Given the description of an element on the screen output the (x, y) to click on. 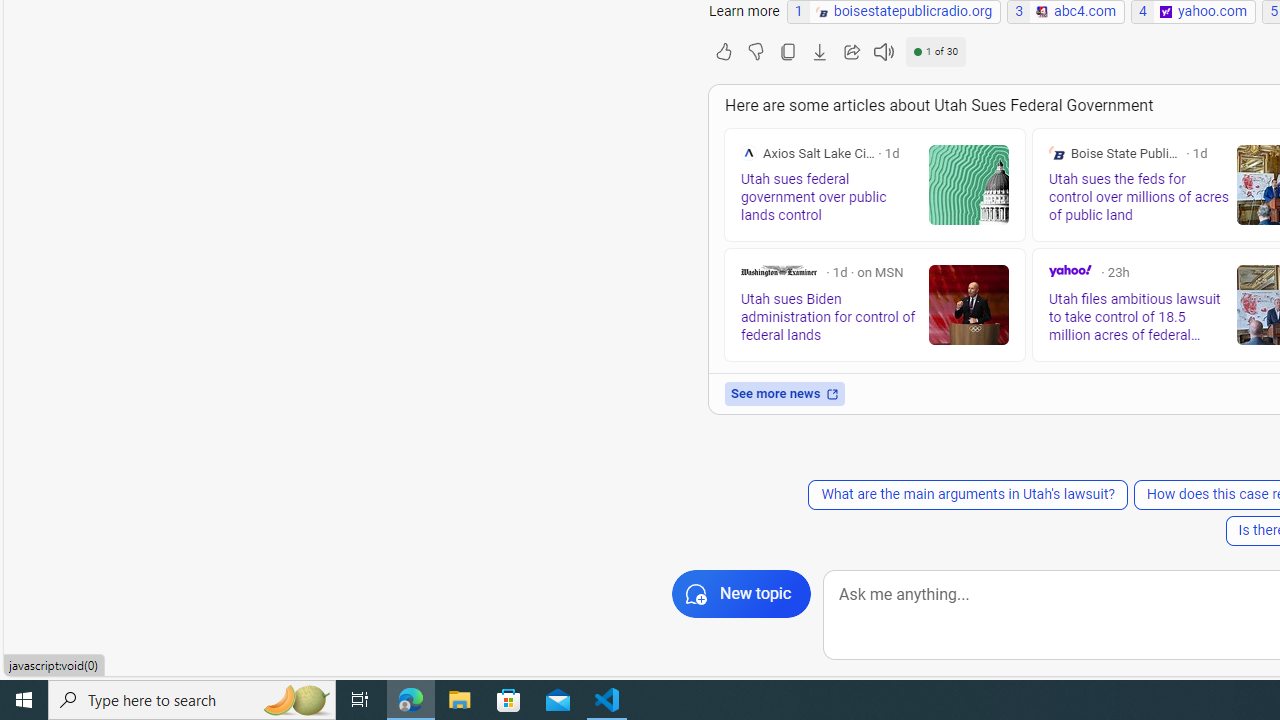
What are the main arguments in Utah's lawsuit? (967, 494)
Utah sues Biden administration for control of federal lands (968, 304)
See more news (785, 394)
What are the main arguments in Utah's lawsuit? (967, 494)
Read aloud (883, 51)
Boise State Public Radio (1056, 152)
Export (819, 51)
Share (851, 51)
Copy (787, 51)
Utah sues federal government over public lands control (968, 184)
